Given the description of an element on the screen output the (x, y) to click on. 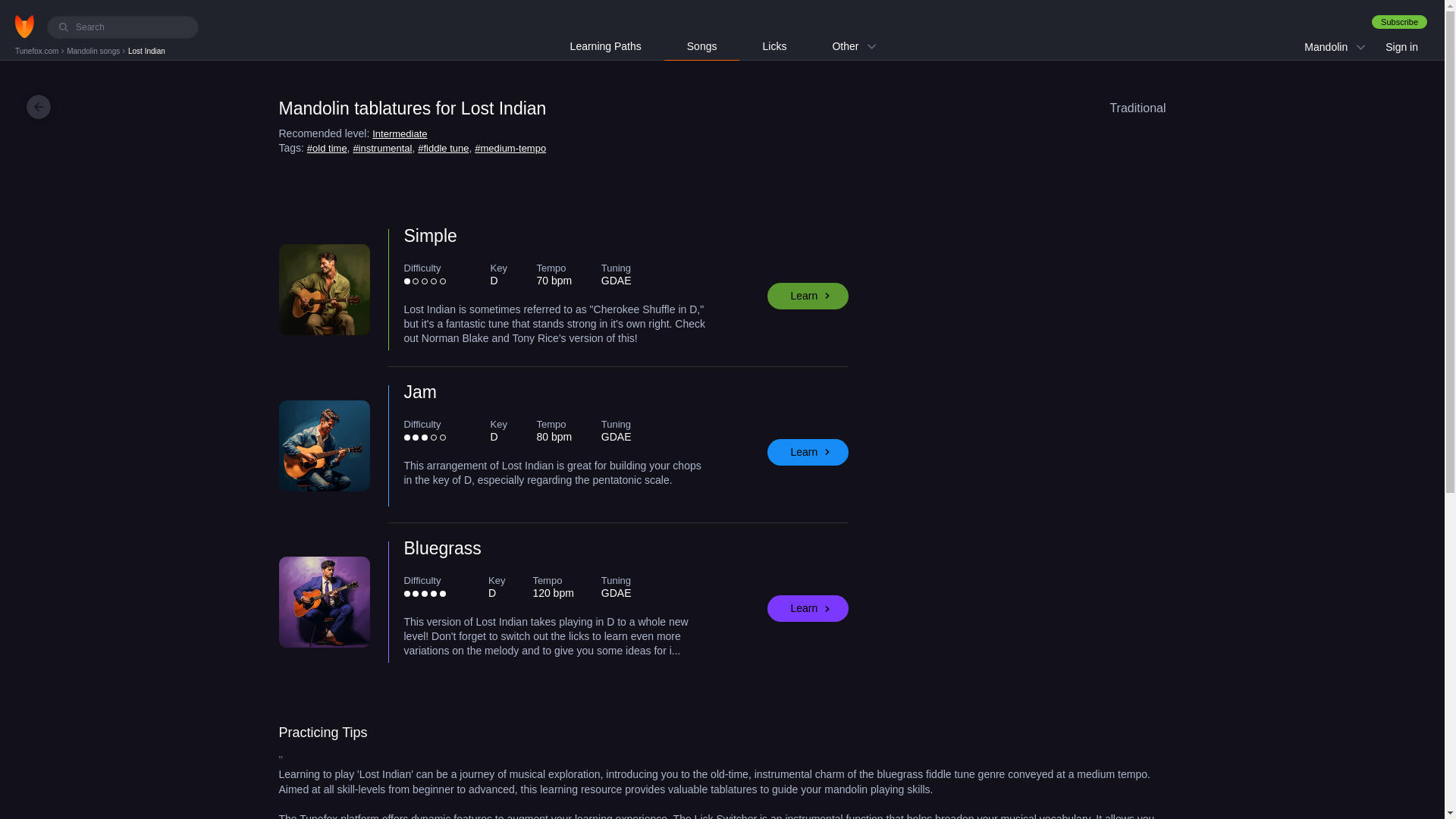
Licks (774, 45)
Mandolin songs (94, 50)
Mandolin songs (94, 50)
Intermediate (399, 132)
Tunefox.com (37, 50)
Sign up (1398, 21)
Learning Paths (605, 45)
Sign in (1401, 46)
Subscribe (1398, 21)
Sign in to Tunefox account (1401, 46)
Tunefox.com (37, 50)
